Given the description of an element on the screen output the (x, y) to click on. 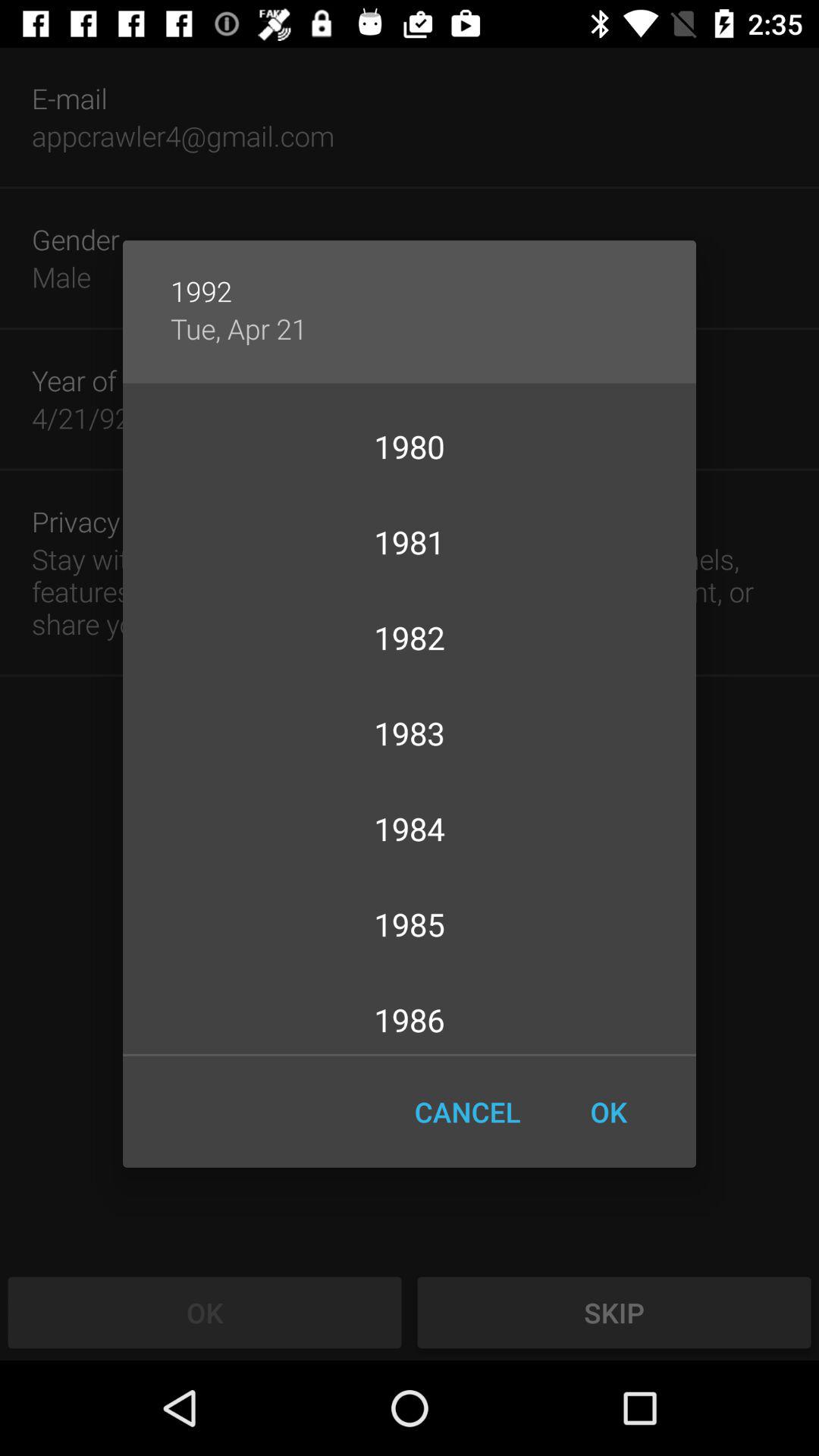
turn off tue, apr 21 (238, 328)
